Given the description of an element on the screen output the (x, y) to click on. 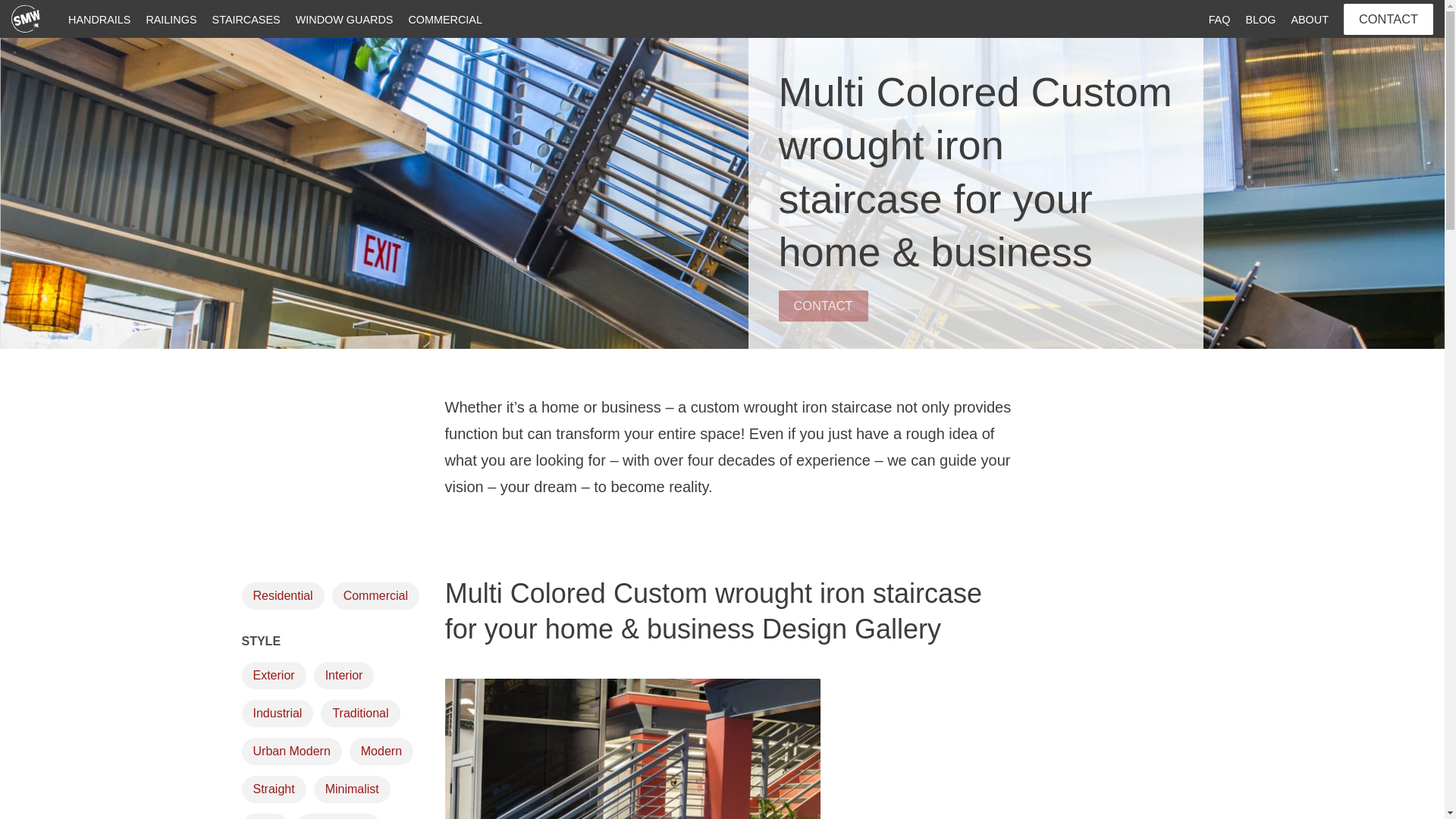
Urban Modern (290, 750)
Industrial (277, 713)
Commercial (375, 595)
STAIRCASES (246, 19)
Interior (344, 675)
About (1308, 19)
Commercial (444, 19)
Blog (1259, 19)
Traditional (359, 713)
Traditional (359, 713)
Minimalist (352, 789)
Railings (170, 19)
ADA (264, 816)
Residential (282, 595)
